Given the description of an element on the screen output the (x, y) to click on. 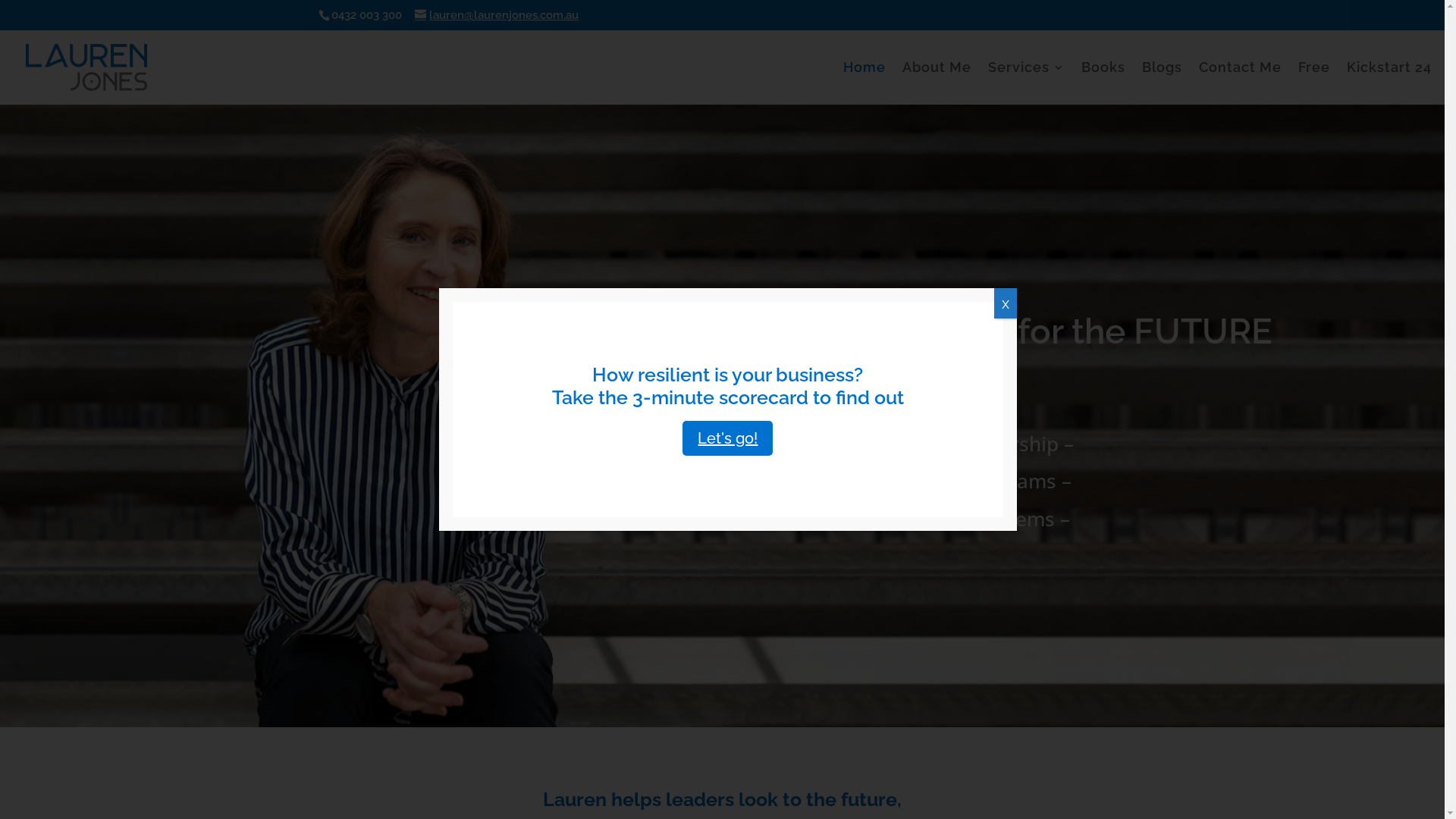
lauren@laurenjones.com.au Element type: text (496, 14)
Books Element type: text (1103, 83)
Services Element type: text (1026, 83)
Home Element type: text (864, 83)
Blogs Element type: text (1162, 83)
About Me Element type: text (936, 83)
x Element type: text (1005, 303)
Let's go! Element type: text (727, 437)
Free Element type: text (1314, 83)
Kickstart 24 Element type: text (1388, 83)
Contact Me Element type: text (1239, 83)
